Given the description of an element on the screen output the (x, y) to click on. 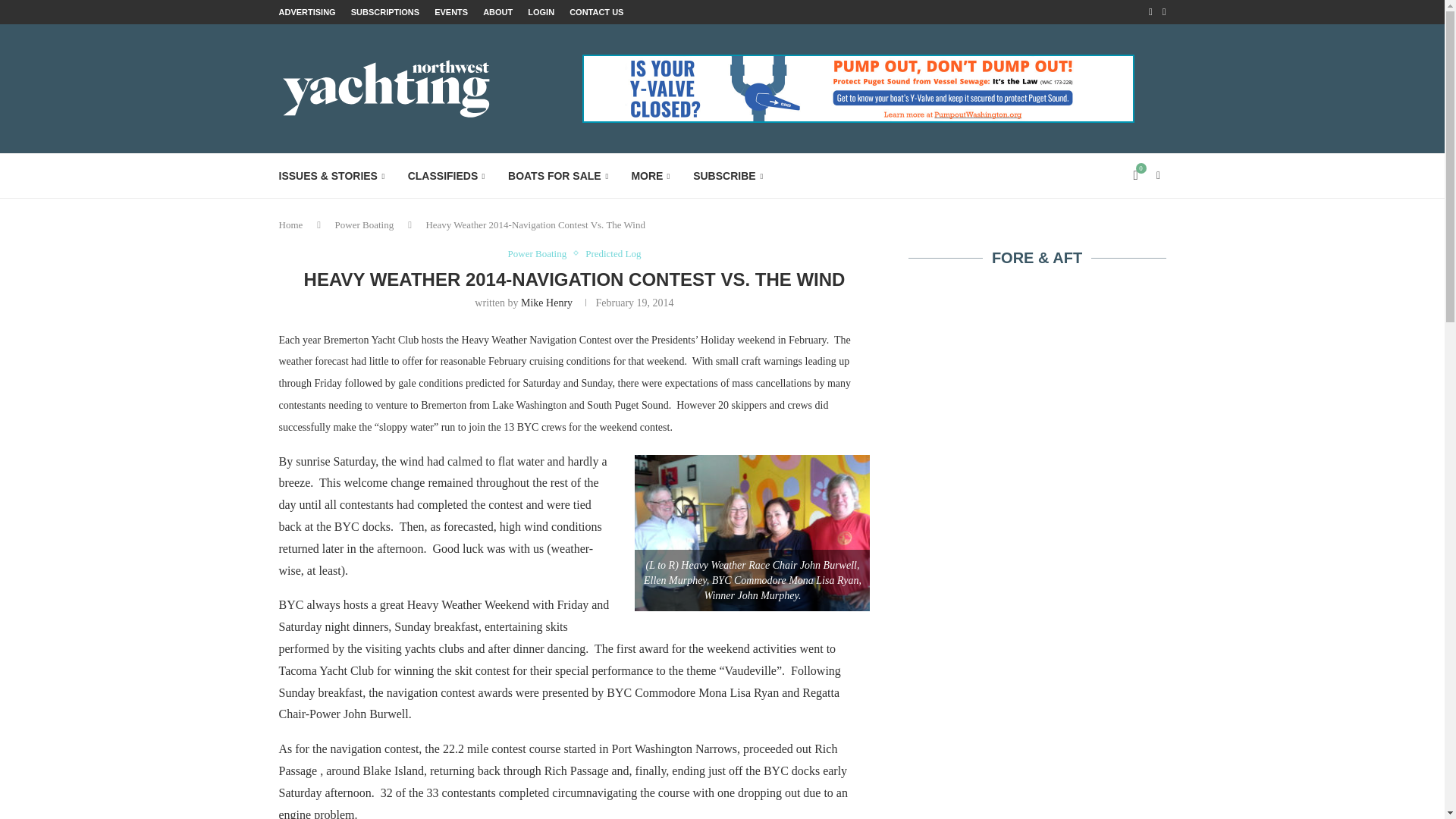
SUBSCRIBE (727, 176)
ABOUT (497, 12)
SUBSCRIPTIONS (384, 12)
CONTACT US (596, 12)
BOATS FOR SALE (558, 176)
EVENTS (450, 12)
ADVERTISING (307, 12)
LOGIN (540, 12)
CLASSIFIEDS (445, 176)
